Given the description of an element on the screen output the (x, y) to click on. 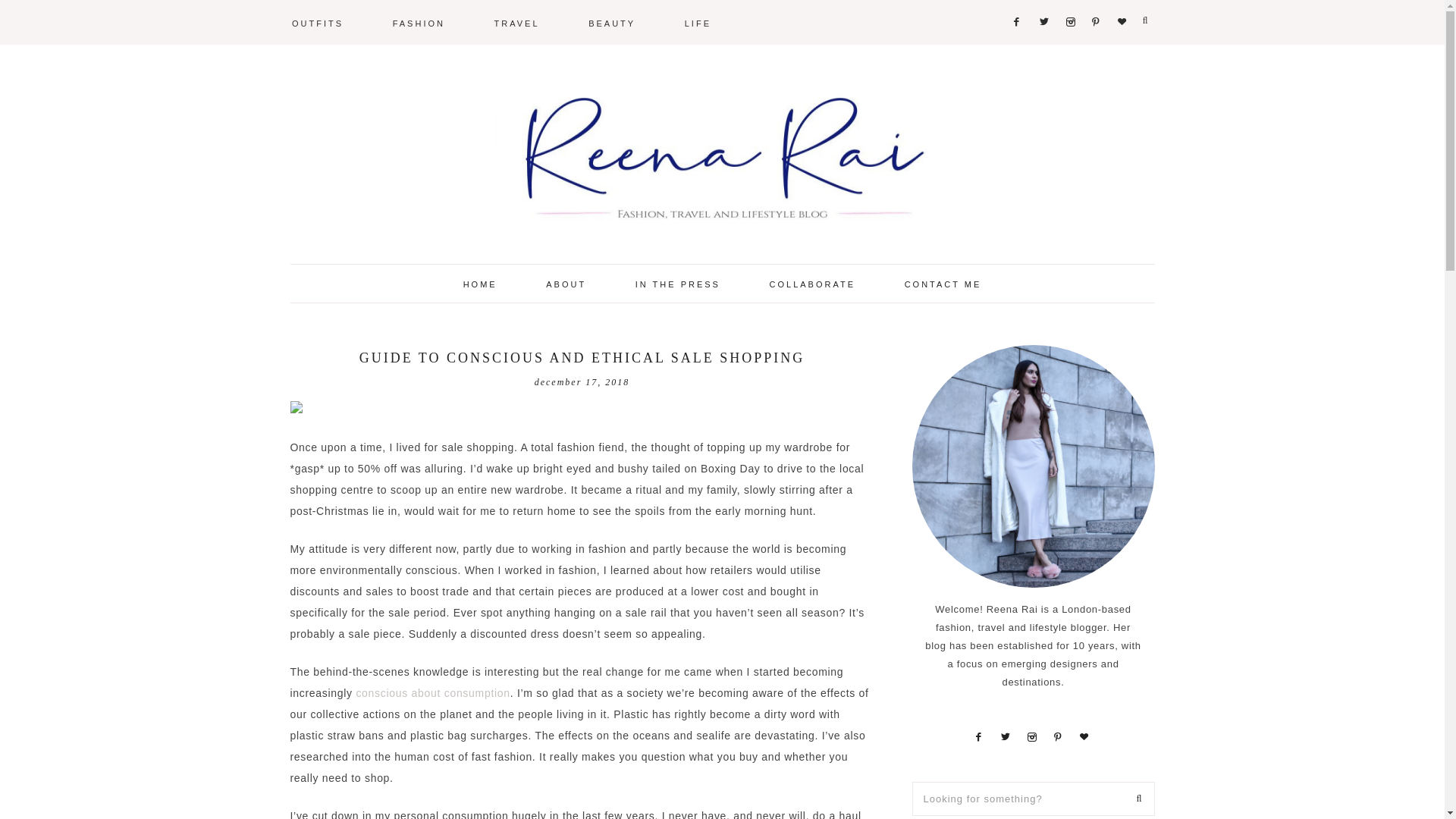
FASHION (418, 22)
Pinterest (1095, 1)
TRAVEL (516, 22)
Instagram (1070, 1)
OUTFITS (317, 22)
Twitter (1004, 736)
Pinterest (1057, 736)
CONTACT ME (943, 283)
ABOUT (565, 283)
BEAUTY (612, 22)
Facebook (1017, 1)
Twitter (1043, 1)
HOME (480, 283)
conscious about consumption (432, 693)
IN THE PRESS (677, 283)
